Given the description of an element on the screen output the (x, y) to click on. 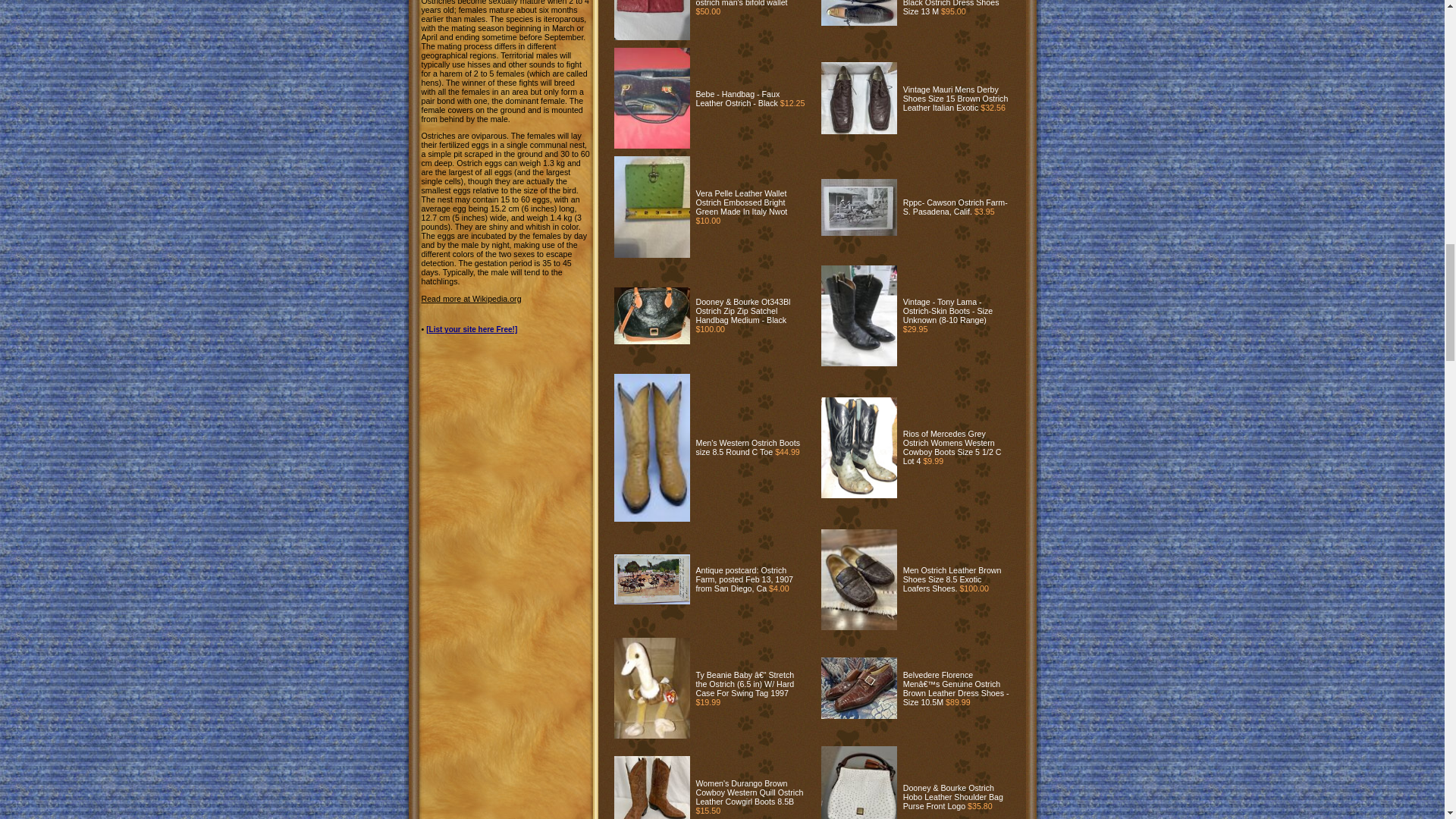
Read more at Wikipedia.org (471, 298)
